Given the description of an element on the screen output the (x, y) to click on. 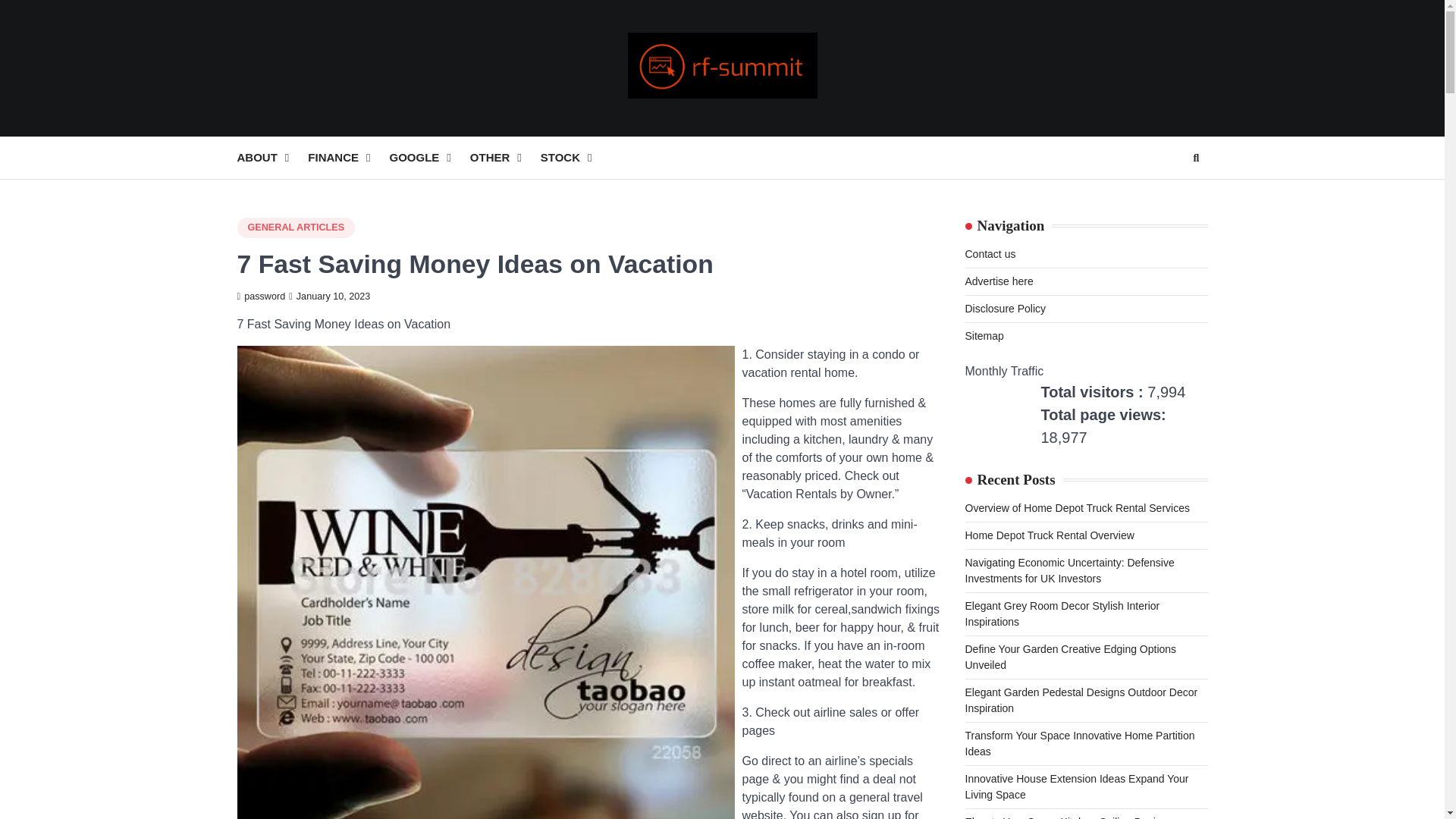
Contact us (988, 254)
STOCK (575, 158)
FINANCE (347, 158)
password (260, 296)
GENERAL ARTICLES (295, 227)
Search (1196, 158)
January 10, 2023 (328, 296)
OTHER (505, 158)
Search (1168, 194)
GOOGLE (428, 158)
ABOUT (271, 158)
